Given the description of an element on the screen output the (x, y) to click on. 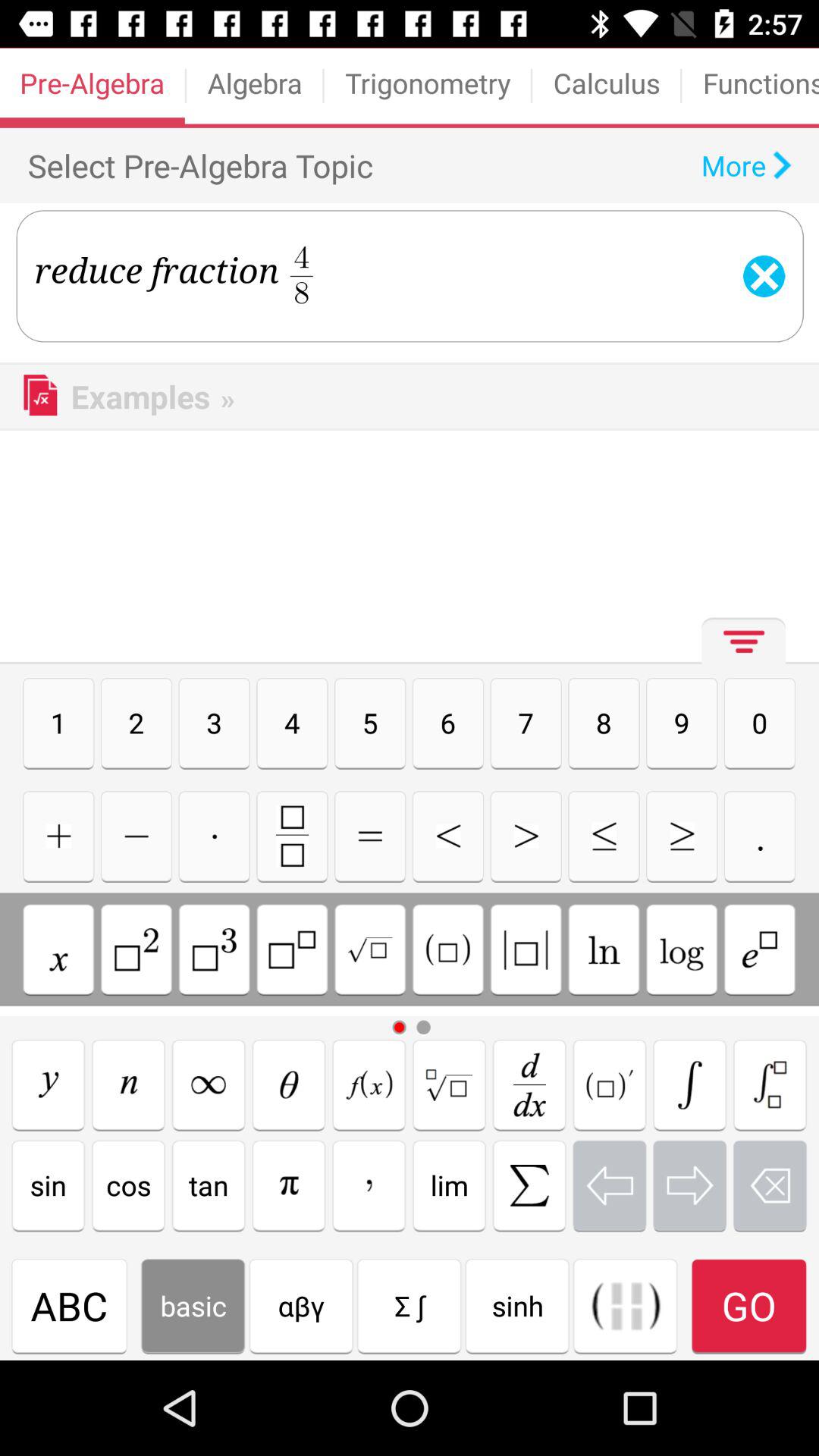
type square symbol (448, 949)
